Given the description of an element on the screen output the (x, y) to click on. 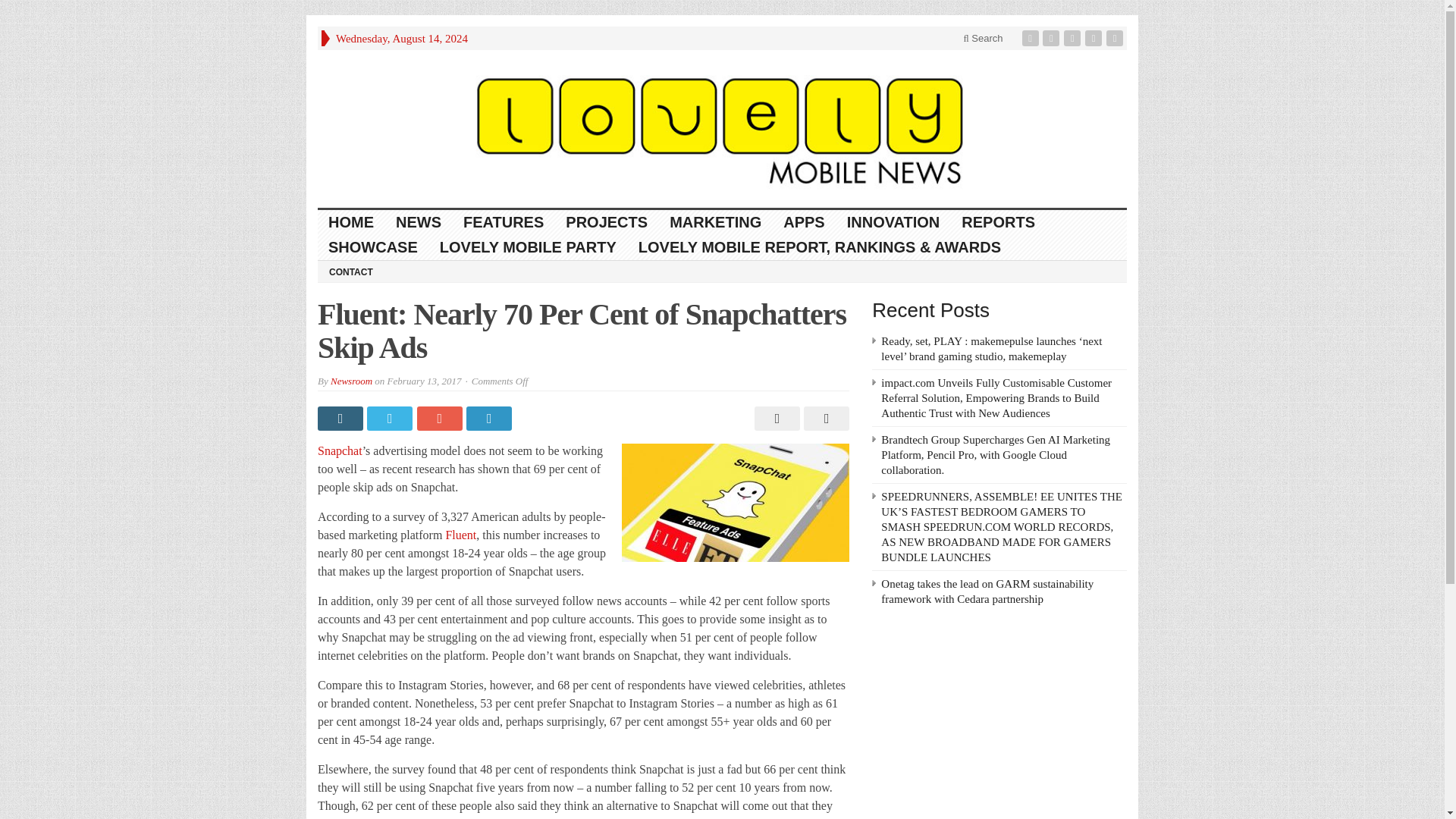
REPORTS (998, 222)
MARKETING (716, 222)
NEWS (418, 222)
Send by Email (823, 418)
INNOVATION (893, 222)
Snapchat (339, 450)
Print This Post (775, 418)
HOME (351, 222)
Share on Twitter (391, 418)
Share on LinkedIn (490, 418)
